Given the description of an element on the screen output the (x, y) to click on. 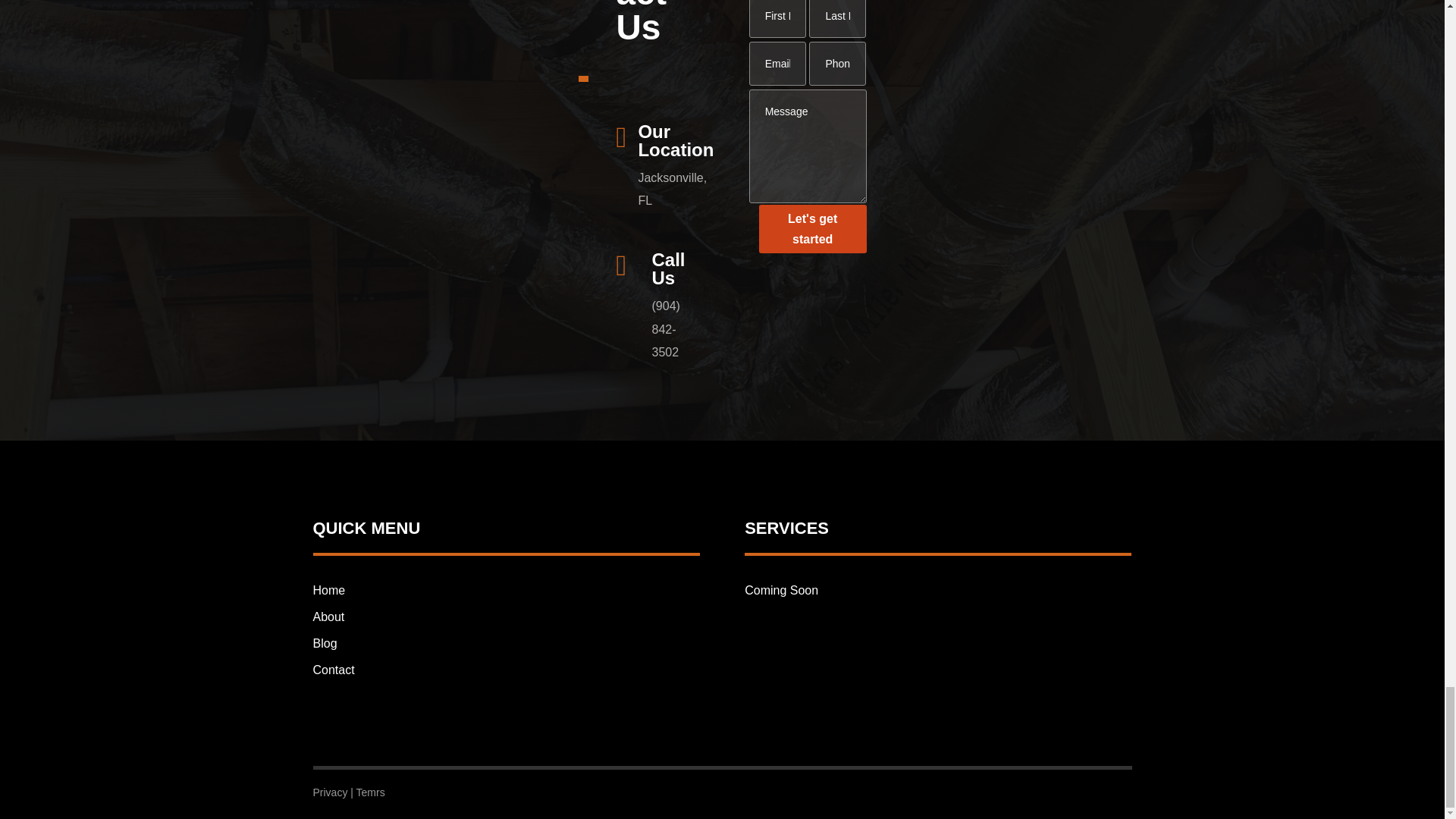
Coming Soon (781, 590)
About (328, 616)
Contact (333, 669)
Let's get started (812, 228)
Contact Us (655, 23)
Blog (324, 643)
Home (329, 590)
